Given the description of an element on the screen output the (x, y) to click on. 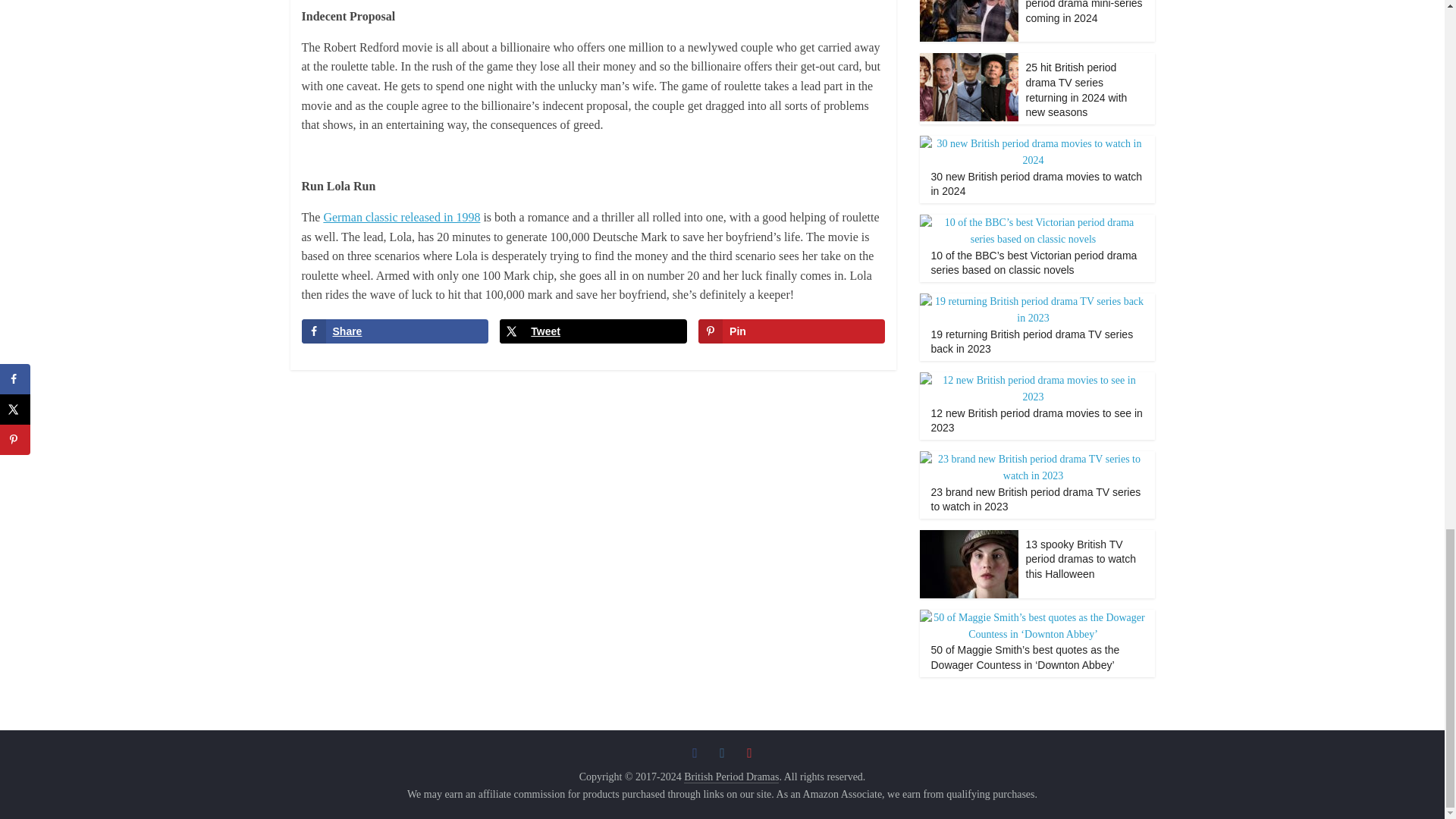
Save to Pinterest (791, 331)
Share on X (592, 331)
German classic released in 1998 (401, 216)
Tweet (592, 331)
Pin (791, 331)
Share (394, 331)
Share on Facebook (394, 331)
